Given the description of an element on the screen output the (x, y) to click on. 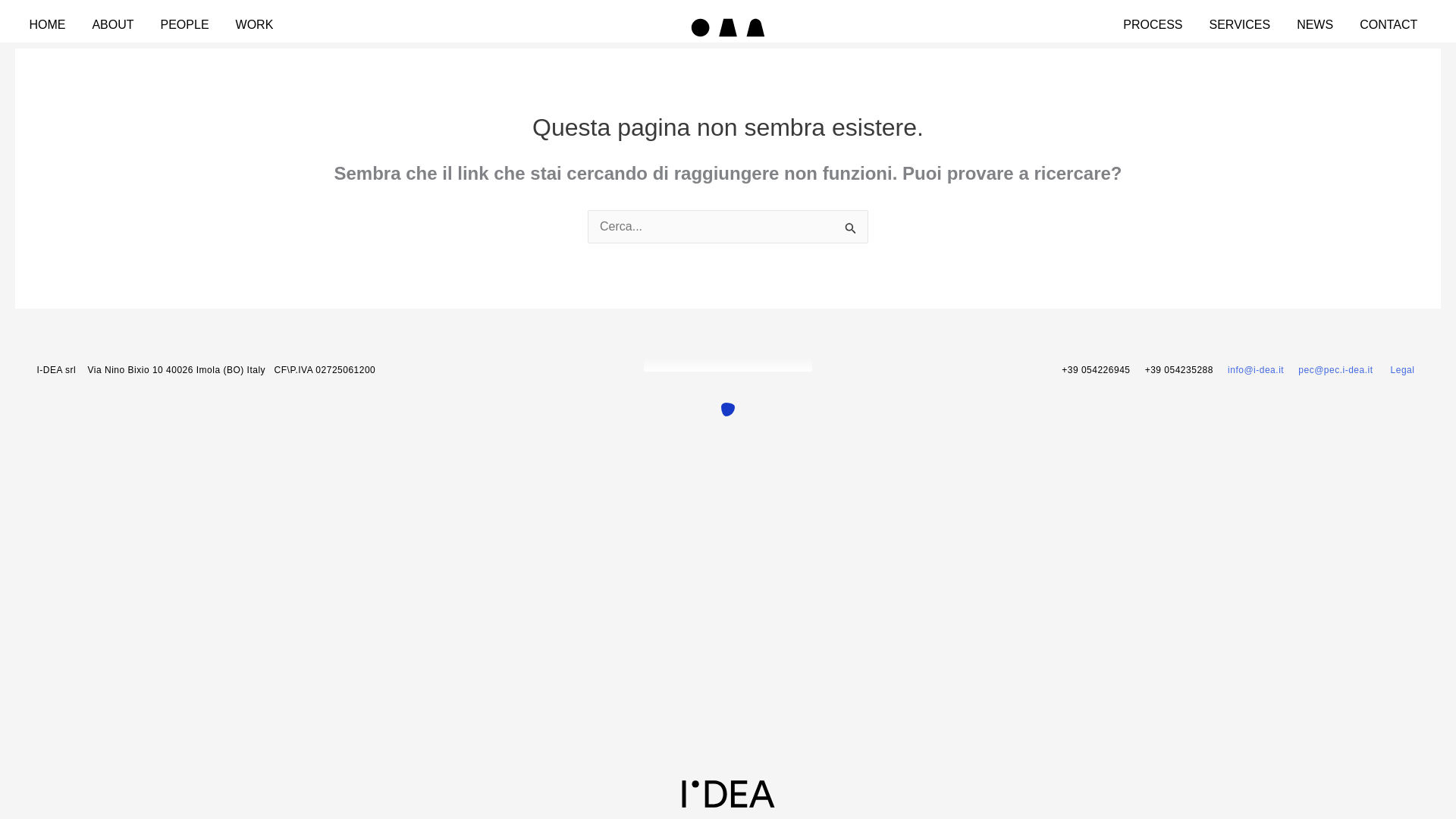
NEWS (1315, 24)
PROCESS (1152, 24)
CONTACT (1387, 24)
Legal (1402, 369)
PEOPLE (184, 24)
SERVICES (1240, 24)
ABOUT (112, 24)
WORK (254, 24)
HOME (47, 24)
